Given the description of an element on the screen output the (x, y) to click on. 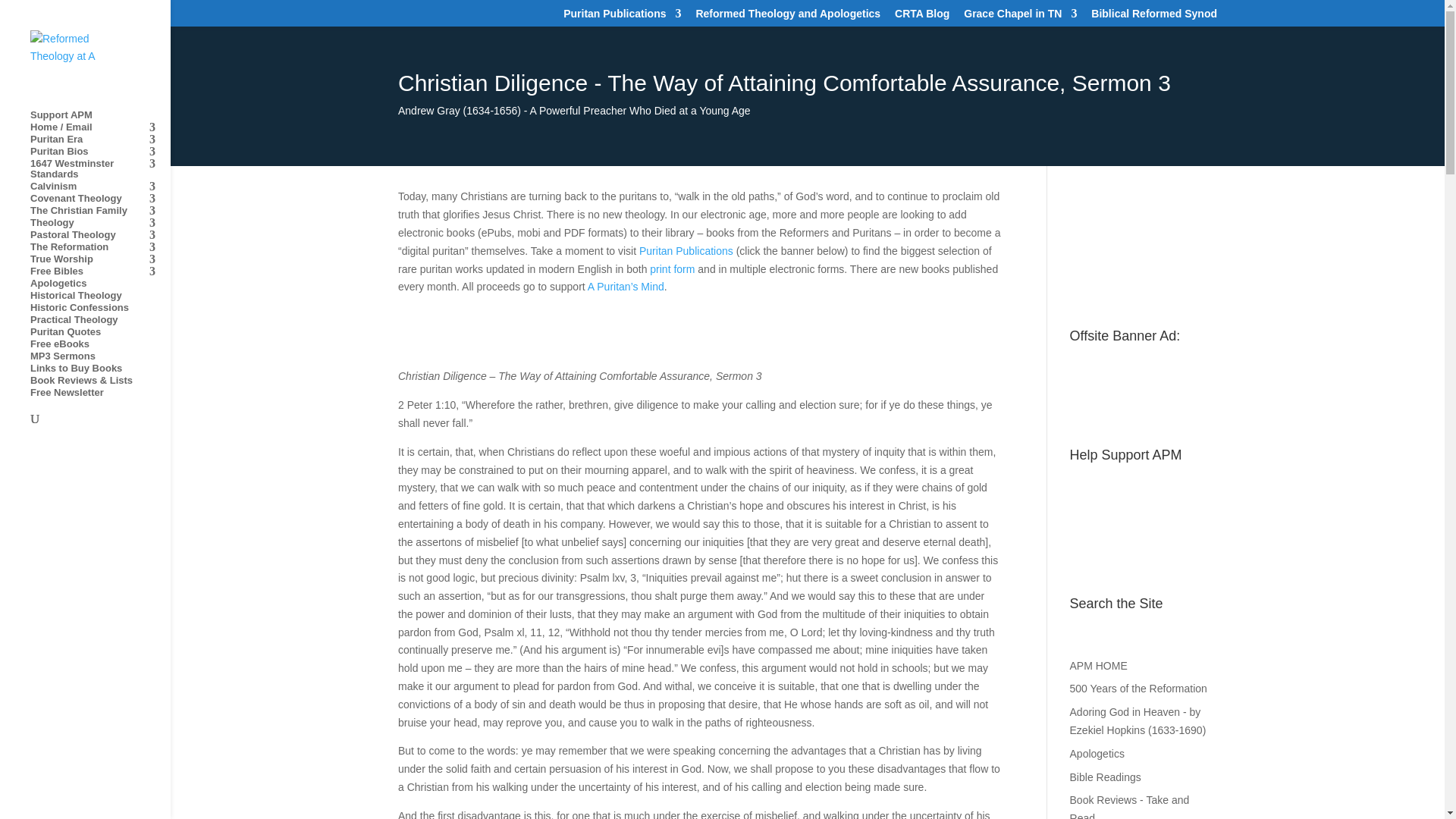
Reformed Theology and Apologetics (787, 16)
CRTA Blog (922, 16)
Support APM (100, 115)
Bible Readings (1105, 776)
Grace Chapel in TN (1020, 16)
500 Years of the Reformation (1138, 688)
Puritan Publications (622, 16)
APM HOME (1098, 665)
Puritan Bios (100, 152)
Apologetics (1097, 753)
500 Years of the Reformation (100, 247)
Book Reviews - Take and Read (1129, 806)
Puritan Era (100, 140)
1647 Westminster Standards (100, 169)
Offsite Banner Ad: (1142, 376)
